Given the description of an element on the screen output the (x, y) to click on. 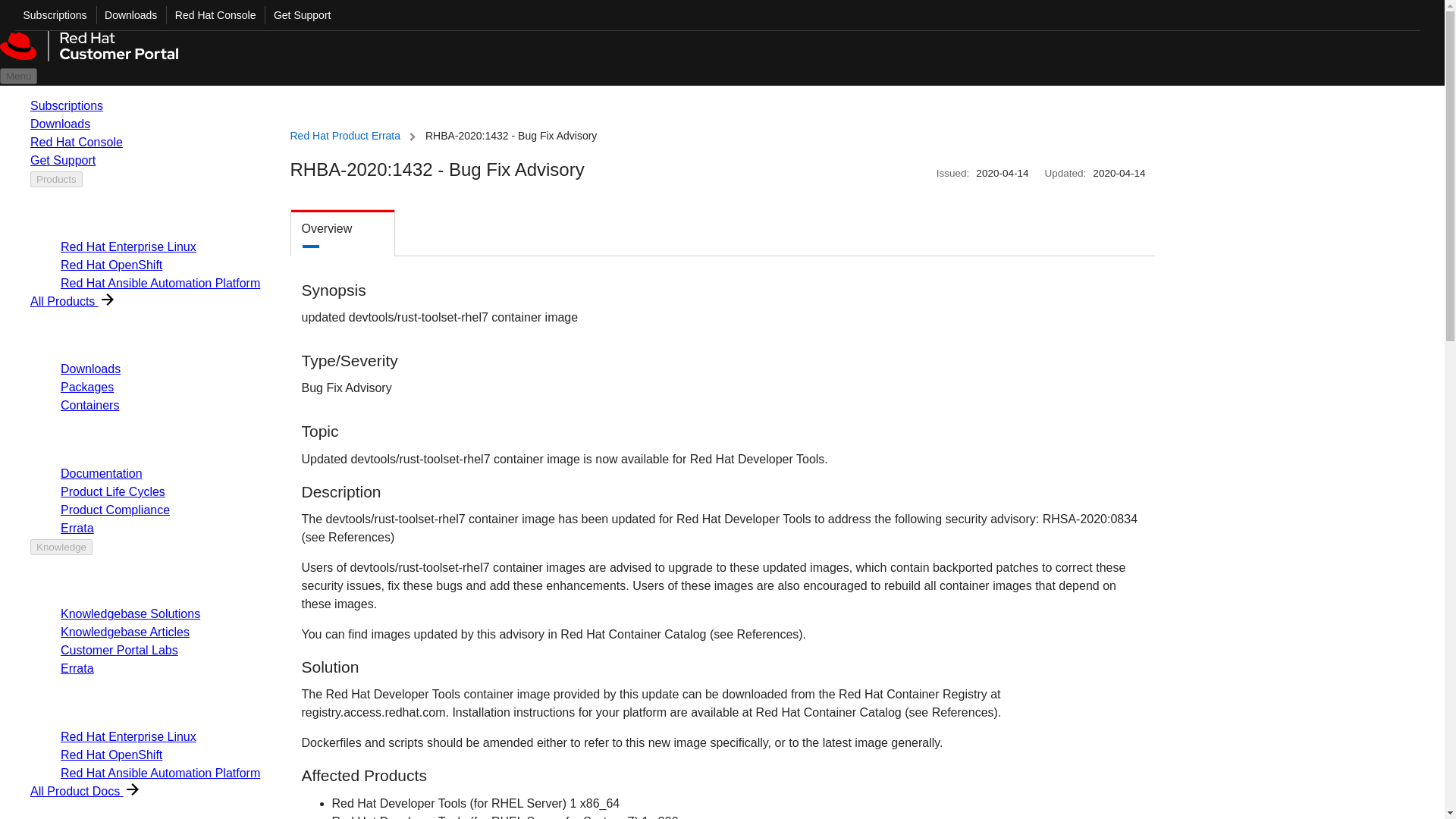
Subscriptions (50, 14)
Red Hat Console (210, 14)
Downloads (126, 14)
Get Support (297, 14)
